Given the description of an element on the screen output the (x, y) to click on. 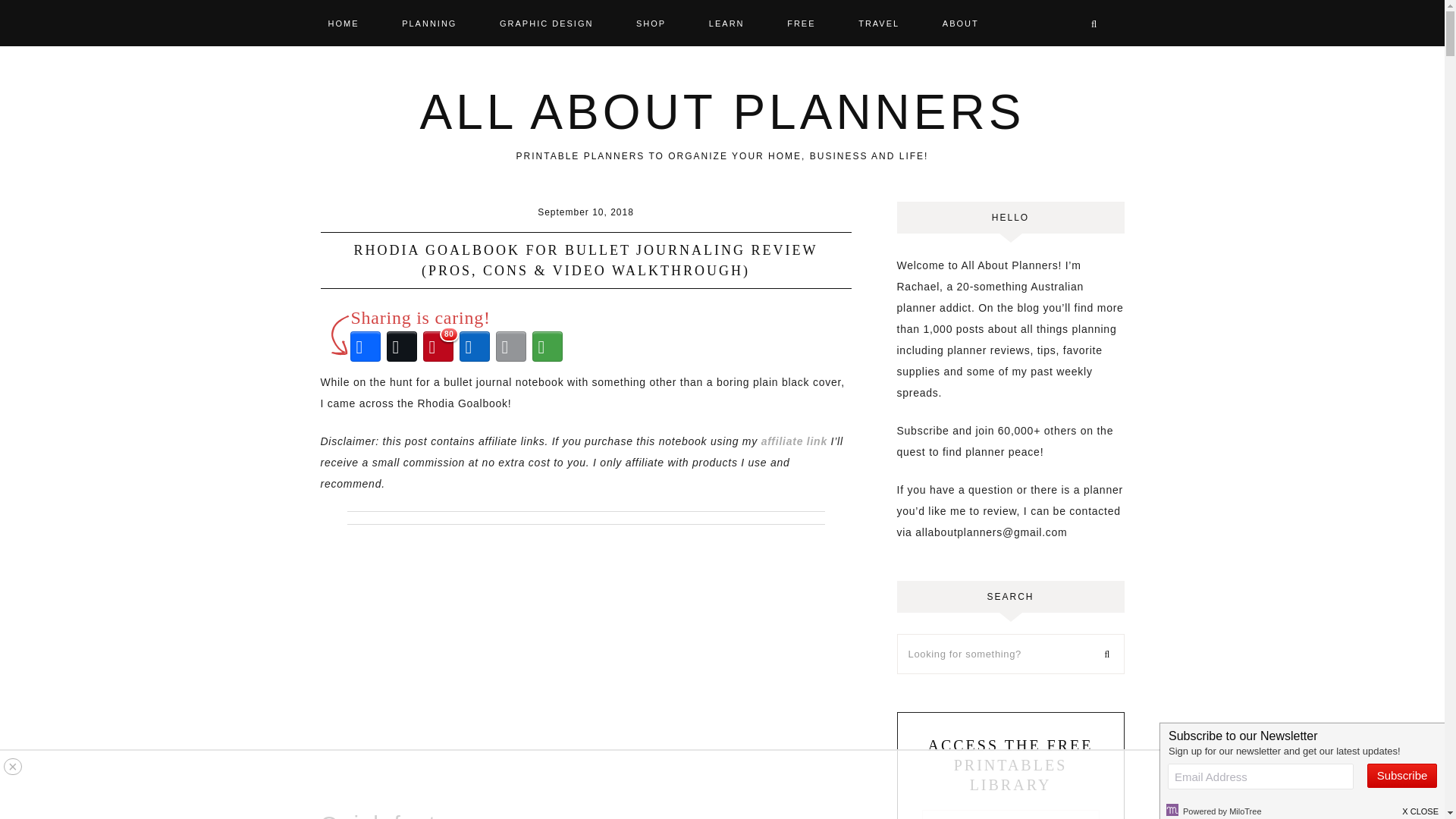
More Options (547, 346)
PLANNING (428, 22)
LinkedIn (475, 346)
HOME (352, 22)
Email This (511, 346)
Pinterest (438, 346)
Facebook (365, 346)
